Given the description of an element on the screen output the (x, y) to click on. 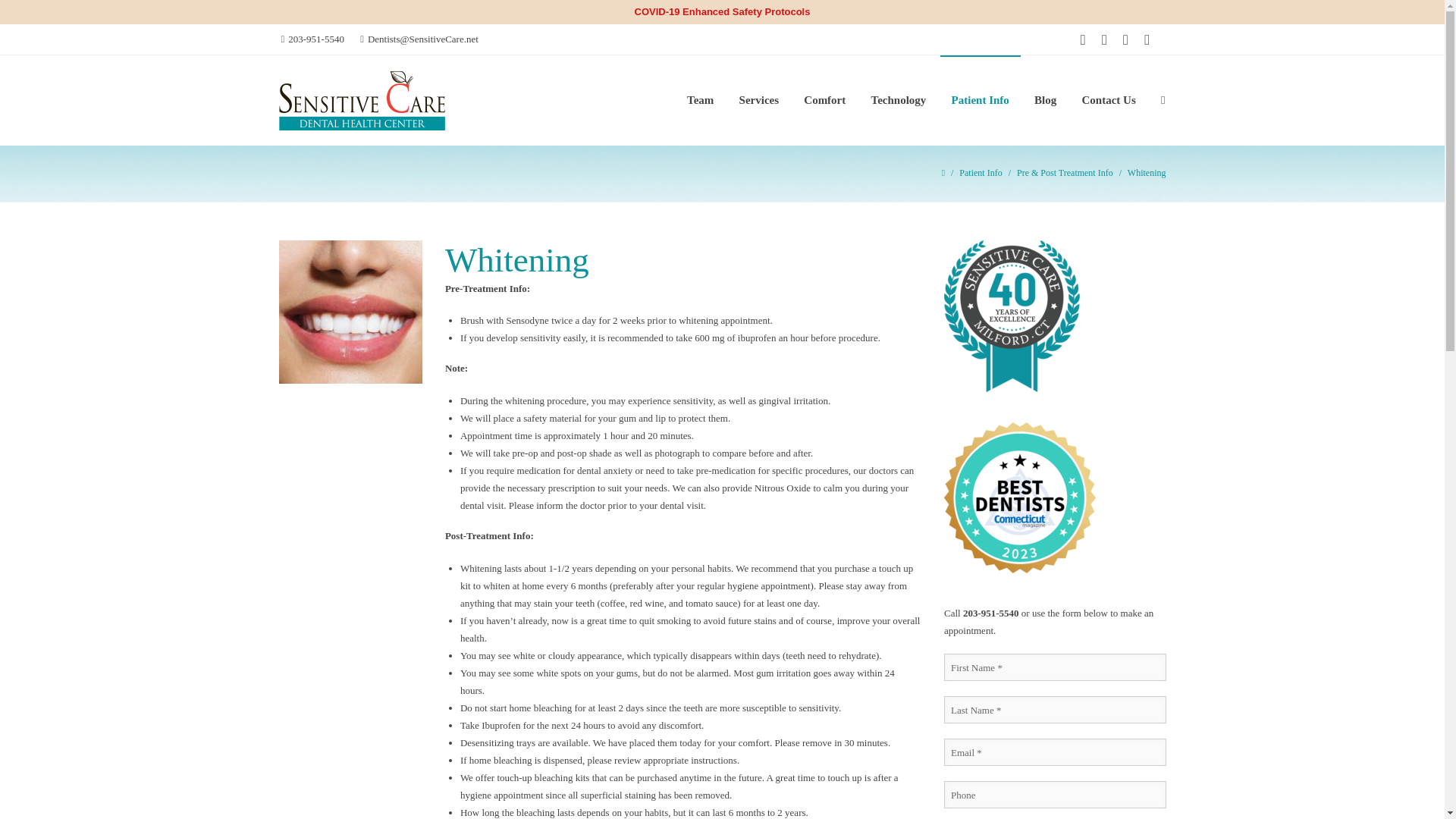
Team (700, 100)
Services (759, 100)
Sensitive Care Dental Health Center (427, 100)
203-951-5540 (312, 39)
Patient Info (980, 172)
Phone (1054, 794)
